Given the description of an element on the screen output the (x, y) to click on. 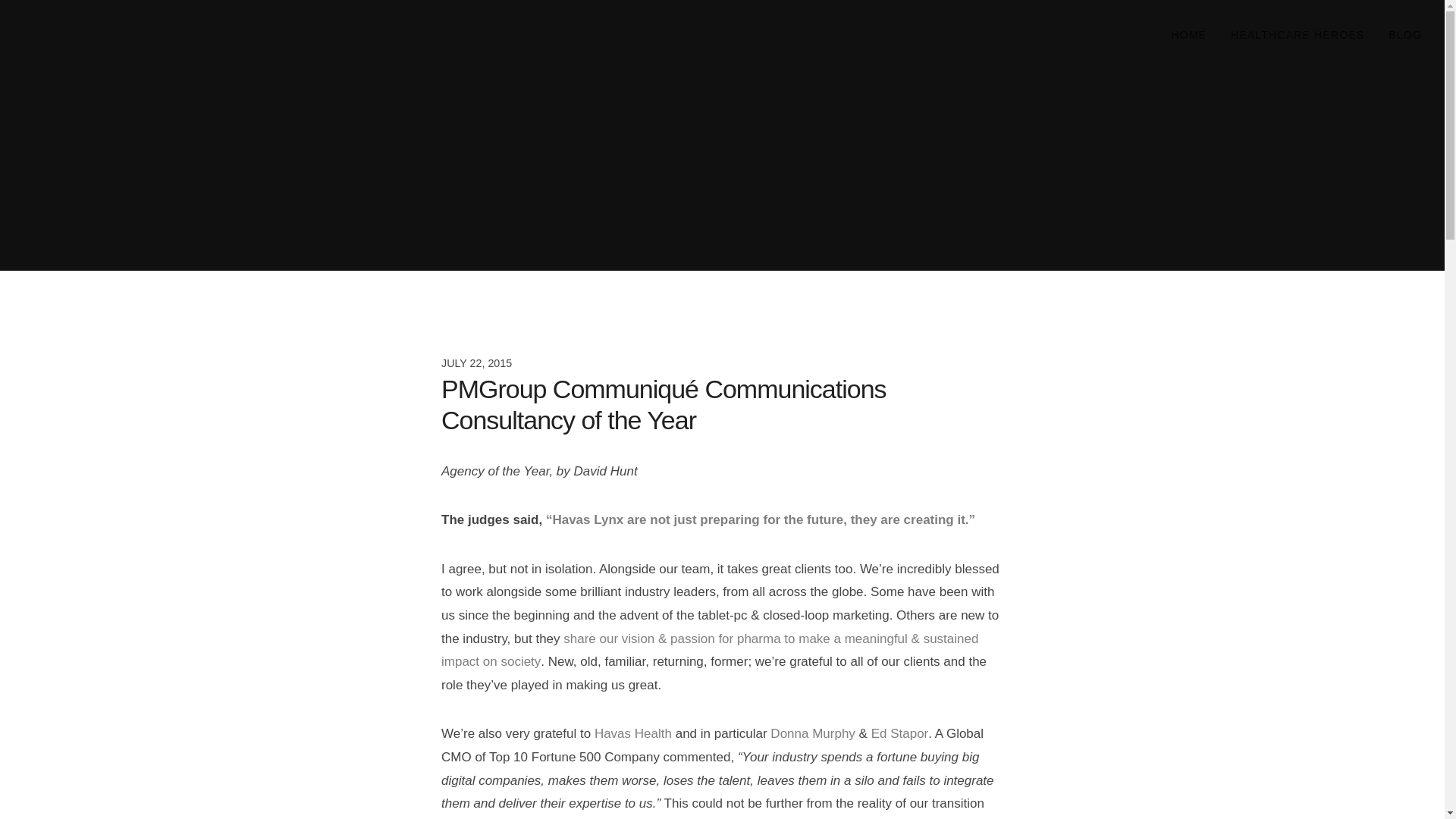
JULY 22, 2015 (722, 363)
Donna Murphy (813, 733)
Havas Health (632, 733)
BLOG (1404, 34)
DAVID HUNT (92, 46)
HEALTHCARE HEROES (1296, 34)
Ed Stapor (899, 733)
HOME (1188, 34)
